Given the description of an element on the screen output the (x, y) to click on. 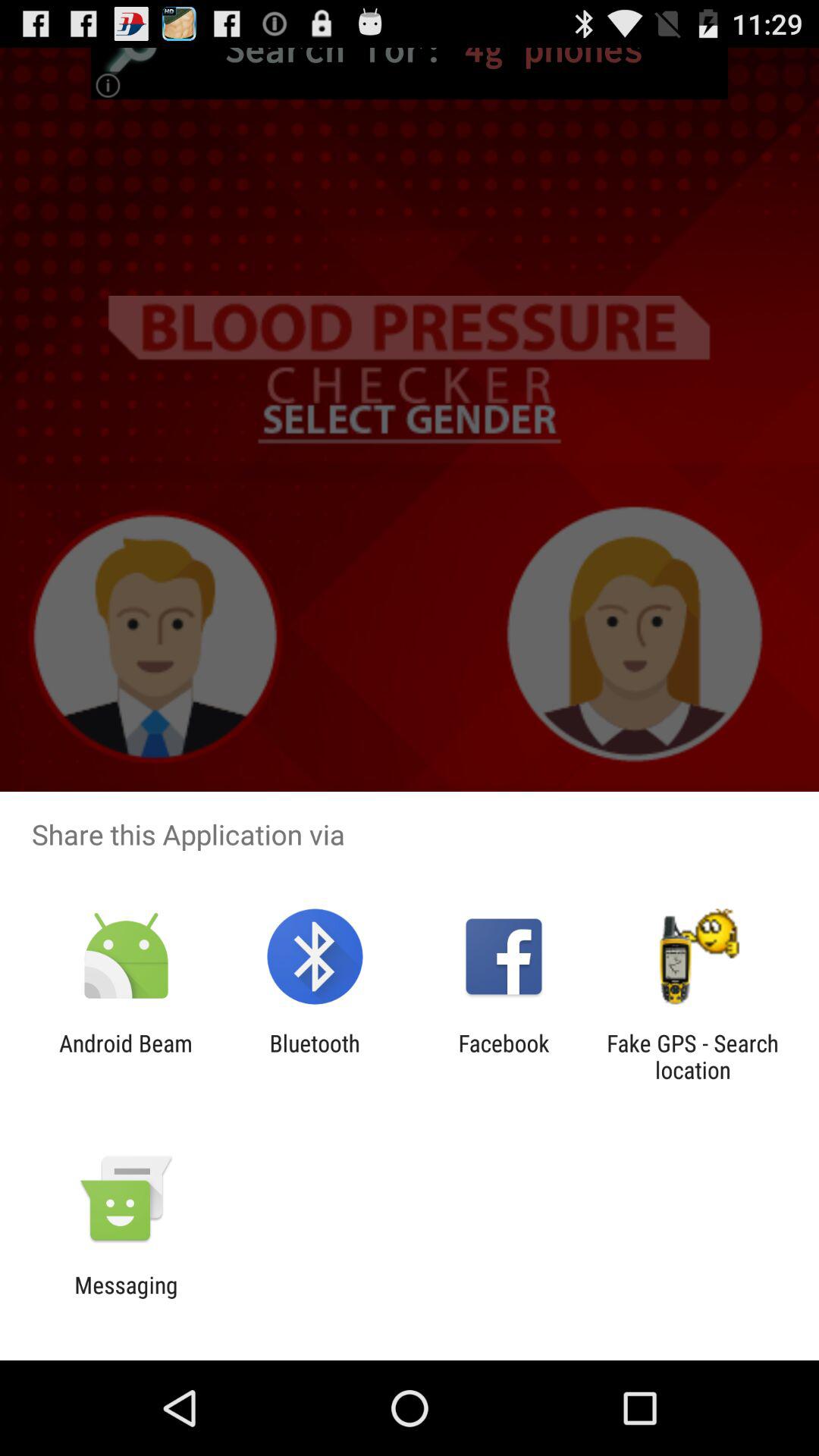
open item next to the android beam icon (314, 1056)
